Given the description of an element on the screen output the (x, y) to click on. 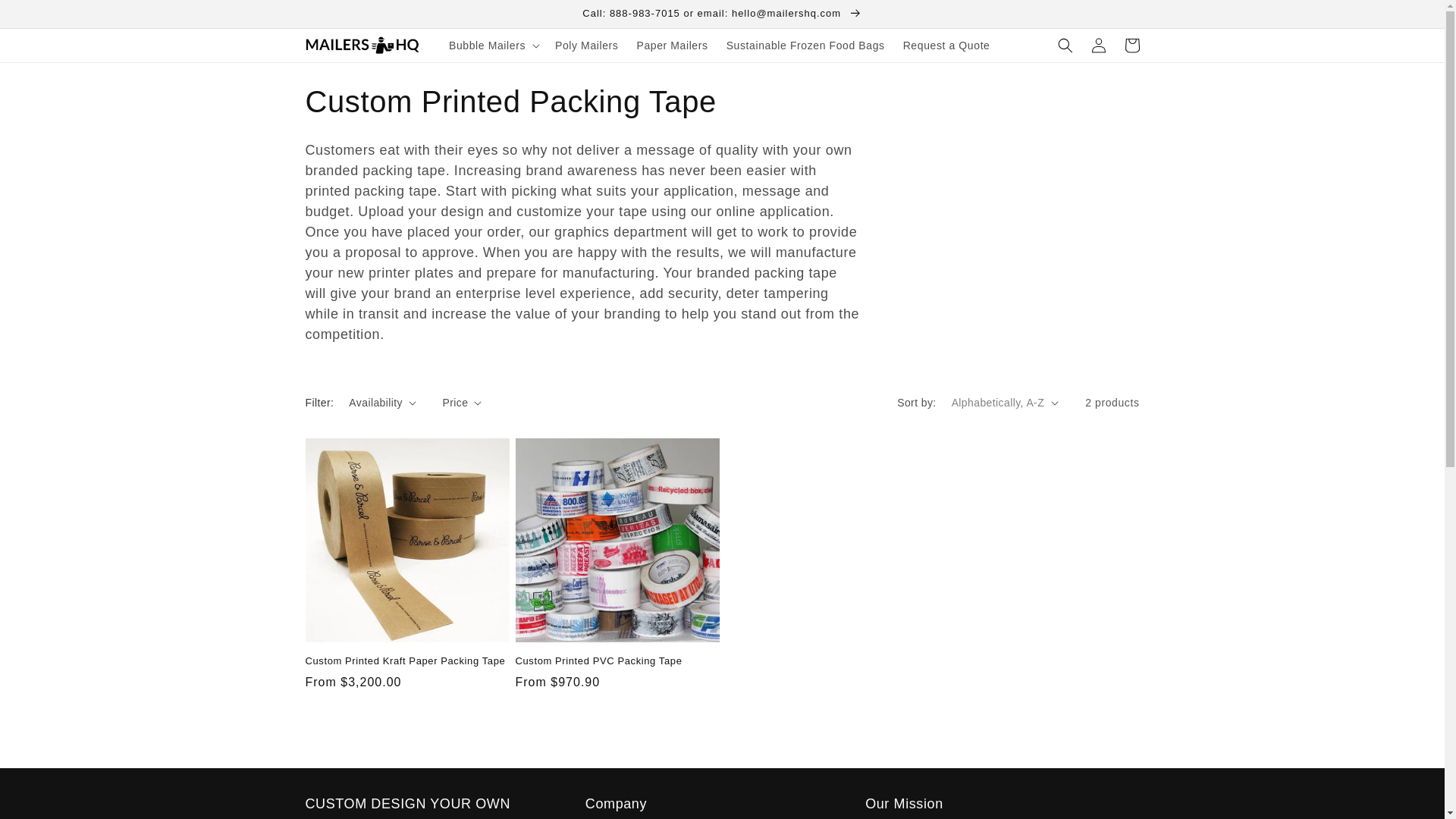
Cart (1131, 45)
Request a Quote (945, 45)
Sustainable Frozen Food Bags (805, 45)
Poly Mailers (586, 45)
Paper Mailers (671, 45)
Skip to content (45, 17)
Log in (1098, 45)
